Given the description of an element on the screen output the (x, y) to click on. 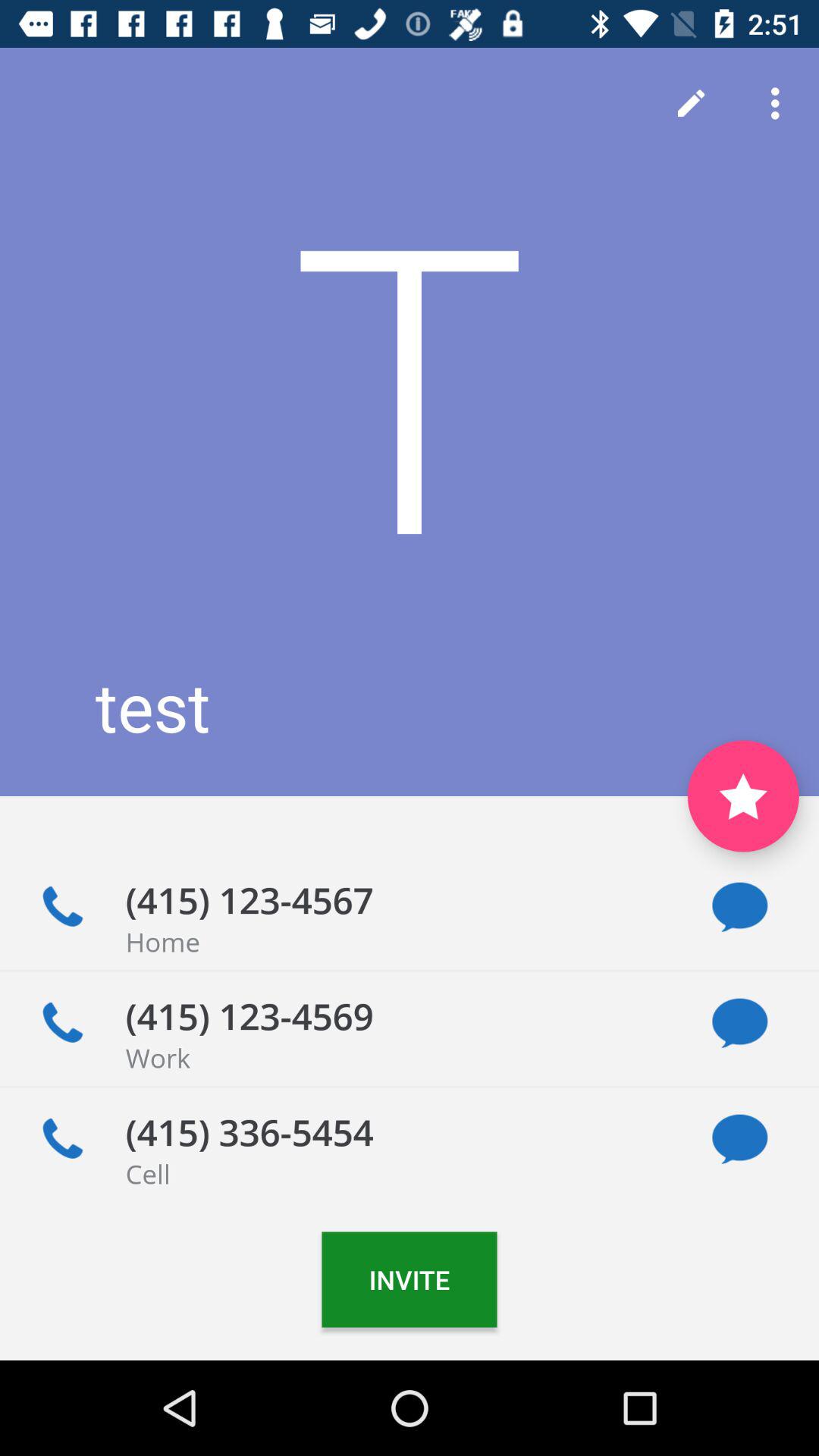
click to message option (739, 1023)
